Given the description of an element on the screen output the (x, y) to click on. 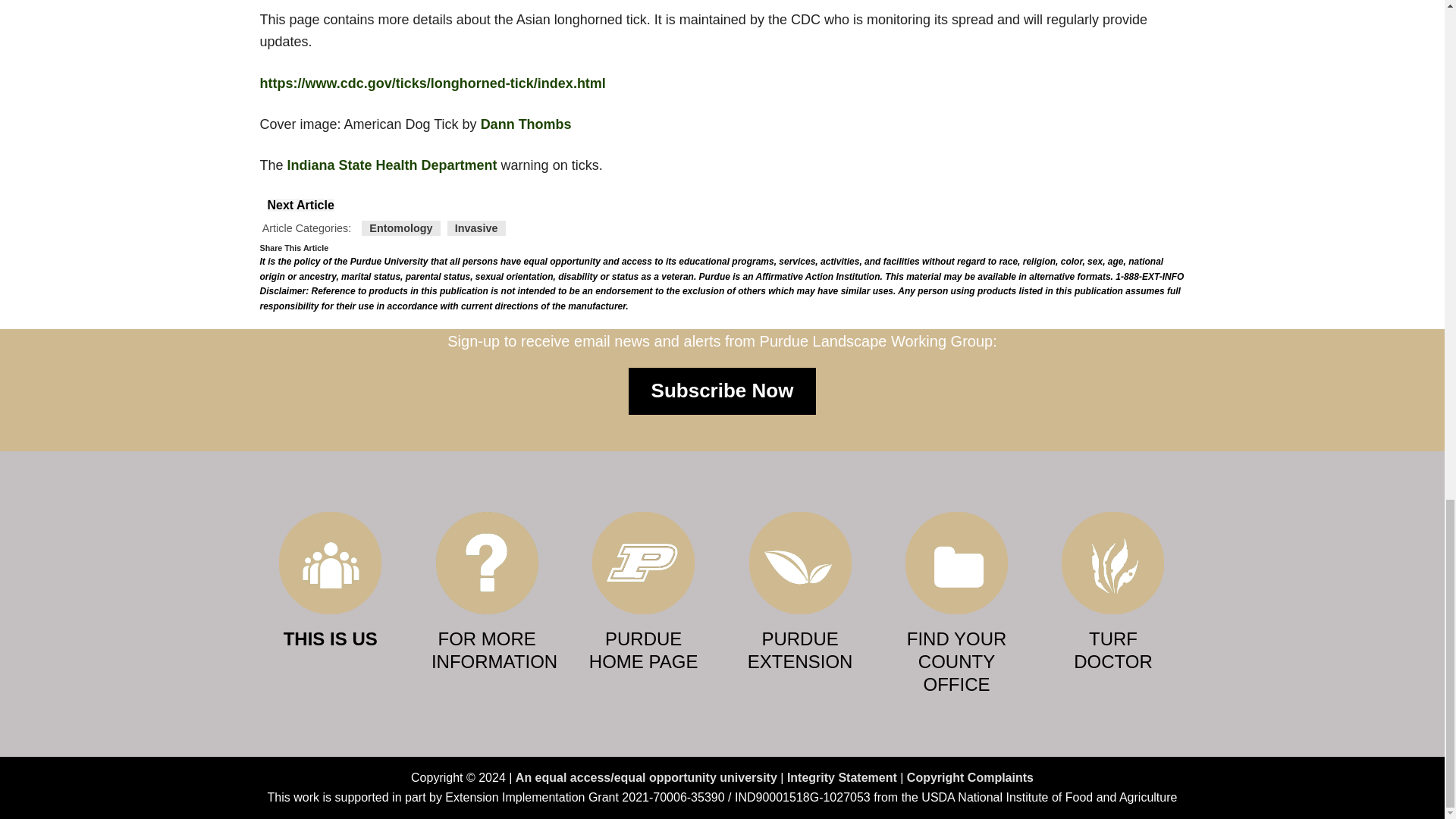
Invasive (475, 227)
Next Article (299, 205)
Integrity Statement (841, 777)
Copyright Complaints (970, 777)
Entomology (400, 227)
Subscribe Now (722, 390)
THIS IS US (330, 638)
Dann Thombs (526, 124)
Indiana State Health Department (391, 165)
